Given the description of an element on the screen output the (x, y) to click on. 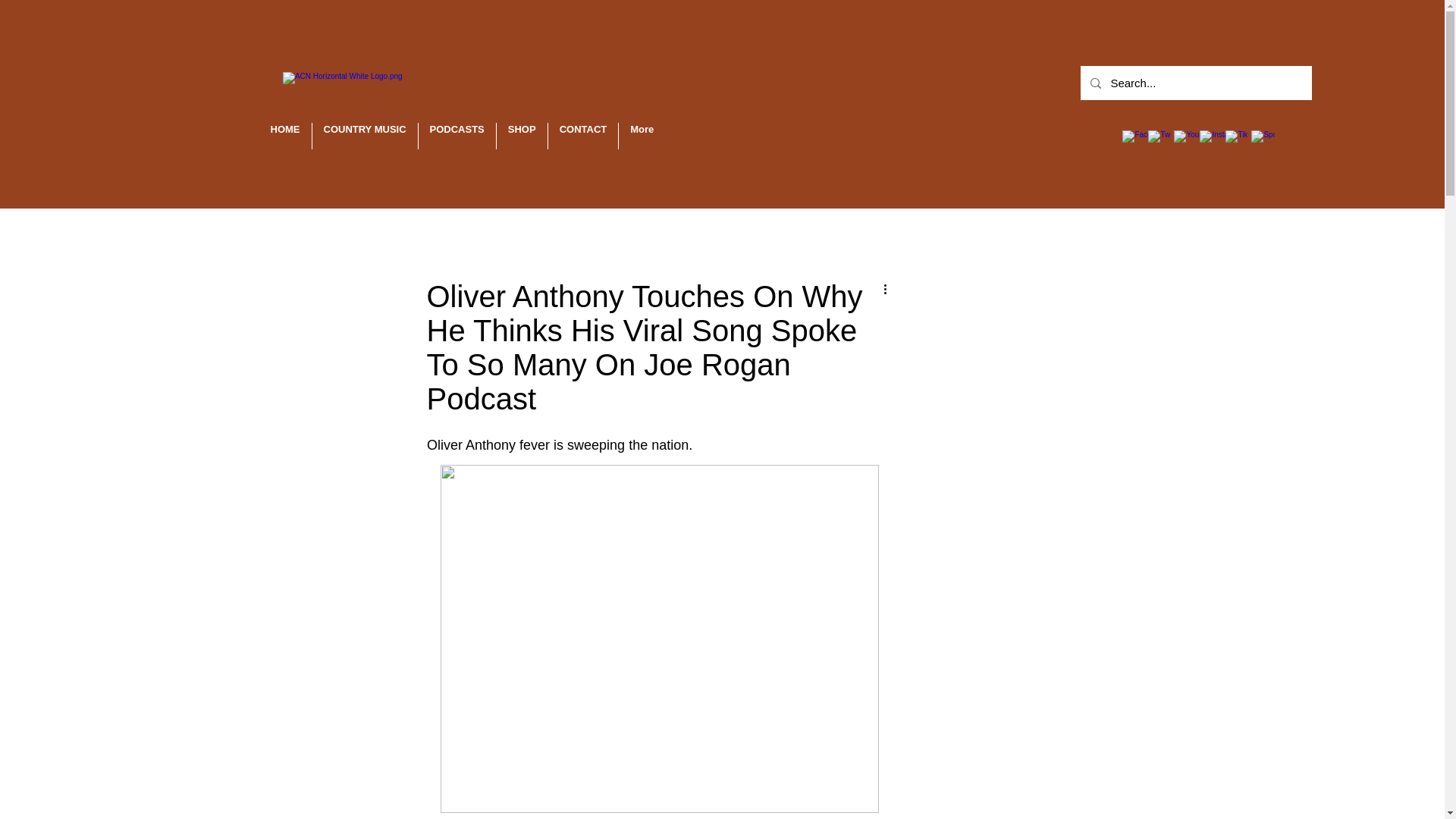
HOME (285, 135)
SHOP (521, 135)
COUNTRY MUSIC (365, 135)
CONTACT (583, 135)
